Given the description of an element on the screen output the (x, y) to click on. 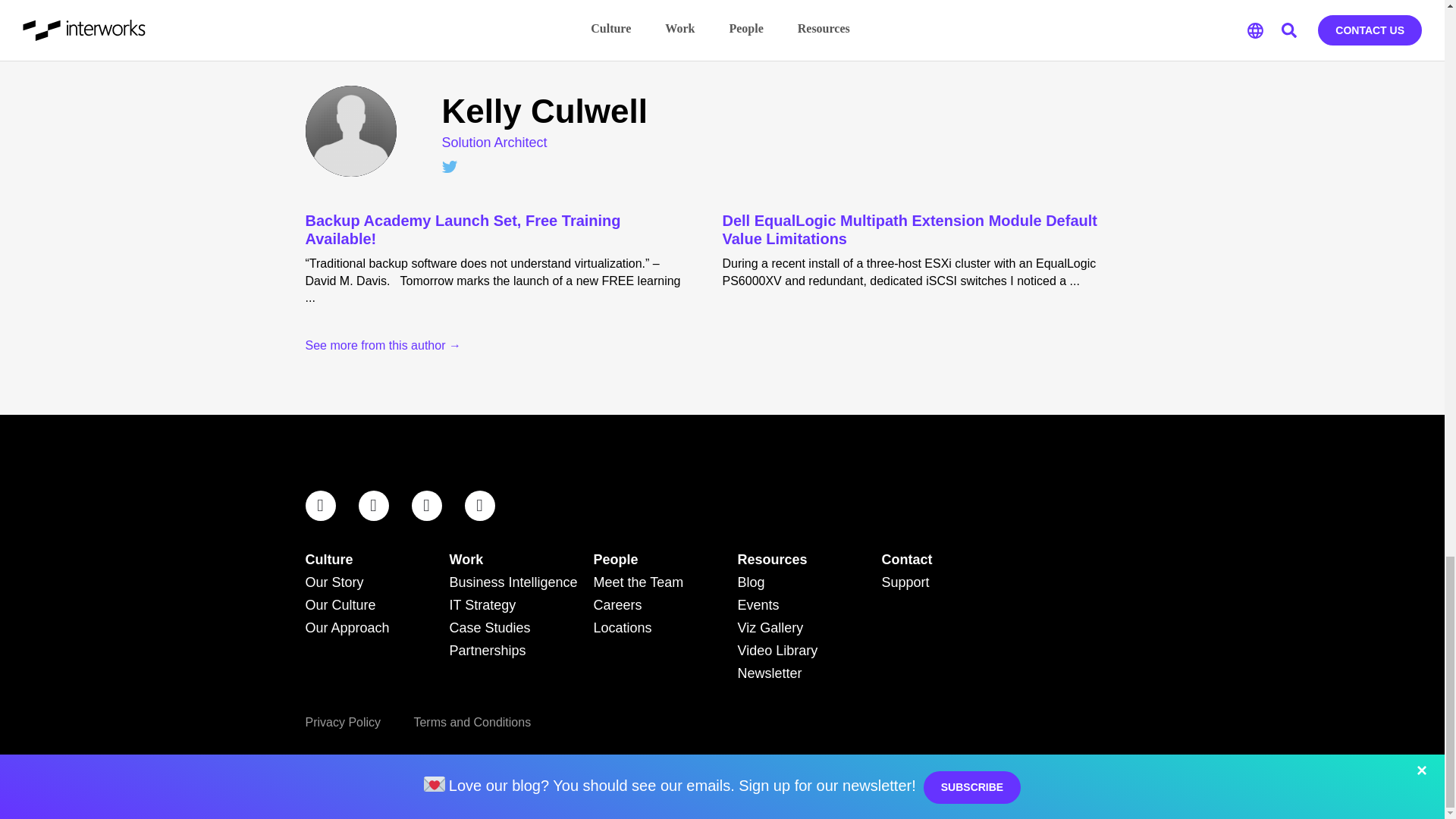
Backup Academy Launch Set, Free Training Available! (491, 229)
